Given the description of an element on the screen output the (x, y) to click on. 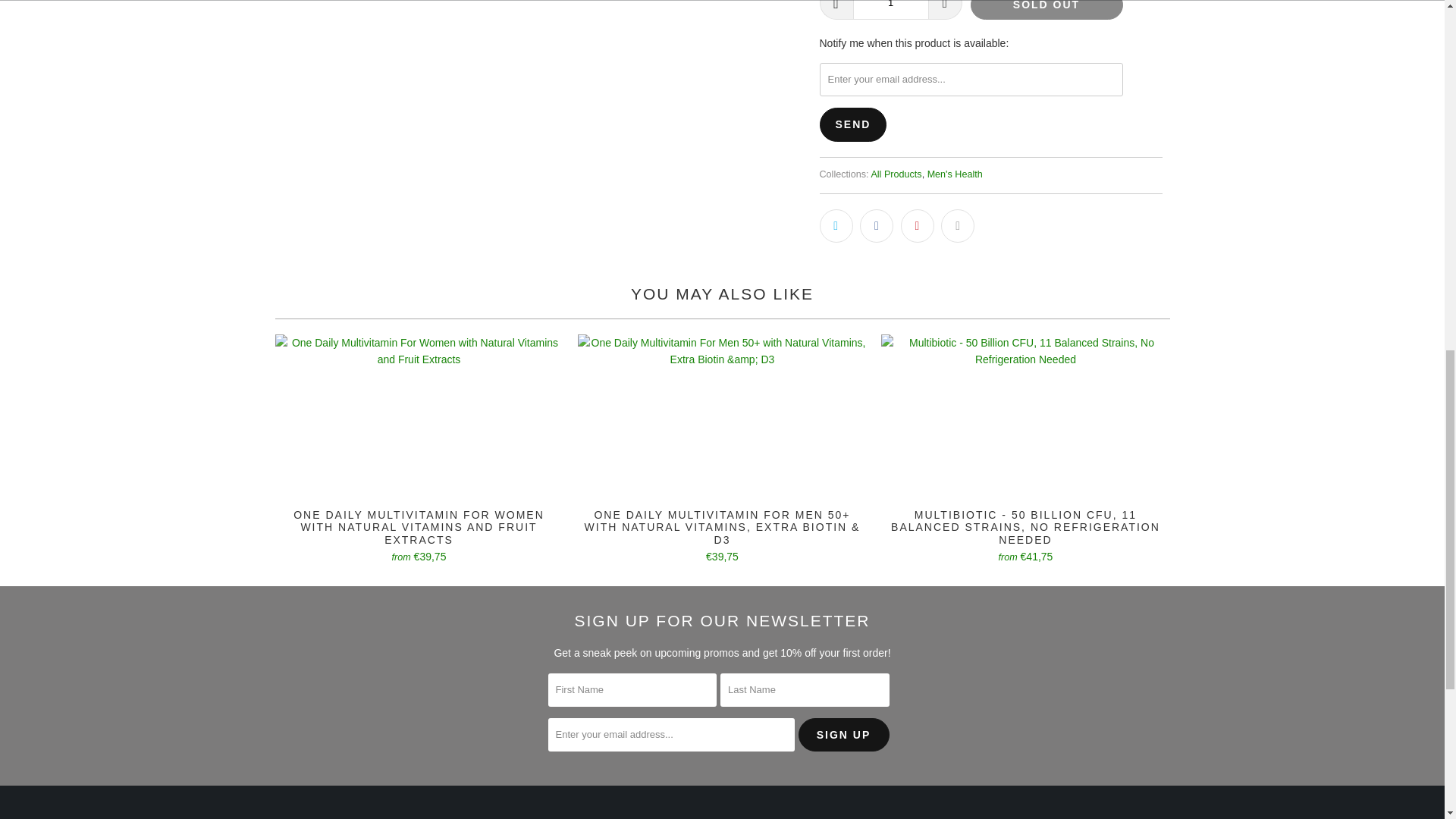
Email this to a friend (957, 225)
Share this on Facebook (876, 225)
All Products (895, 173)
Share this on Twitter (834, 225)
Send (852, 124)
Men's Health (954, 173)
Share this on Pinterest (917, 225)
1 (889, 9)
Sign Up (842, 734)
